Given the description of an element on the screen output the (x, y) to click on. 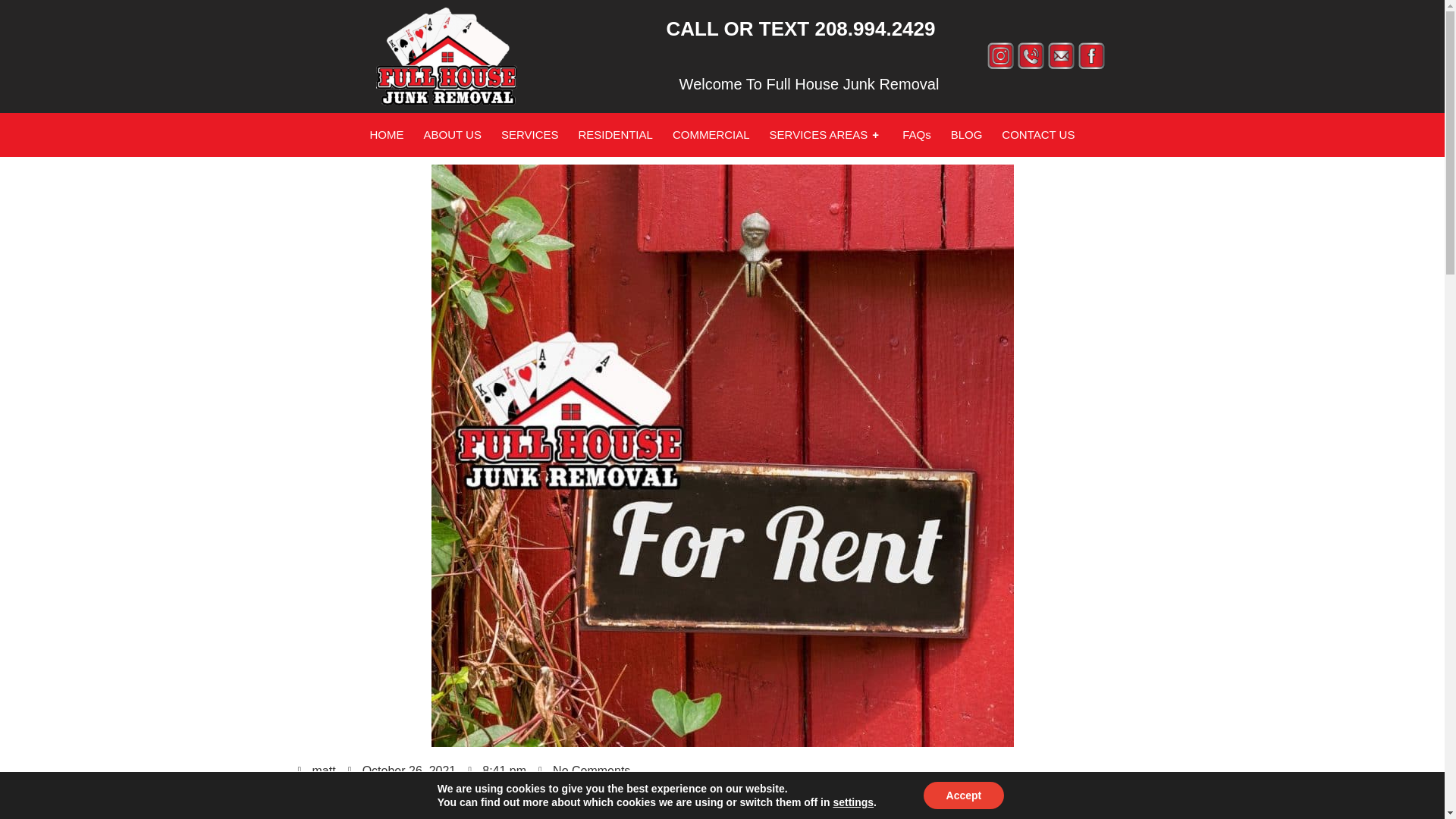
CONTACT US (1037, 134)
COMMERCIAL (710, 134)
SERVICES (529, 134)
ABOUT US (452, 134)
RESIDENTIAL (615, 134)
